Given the description of an element on the screen output the (x, y) to click on. 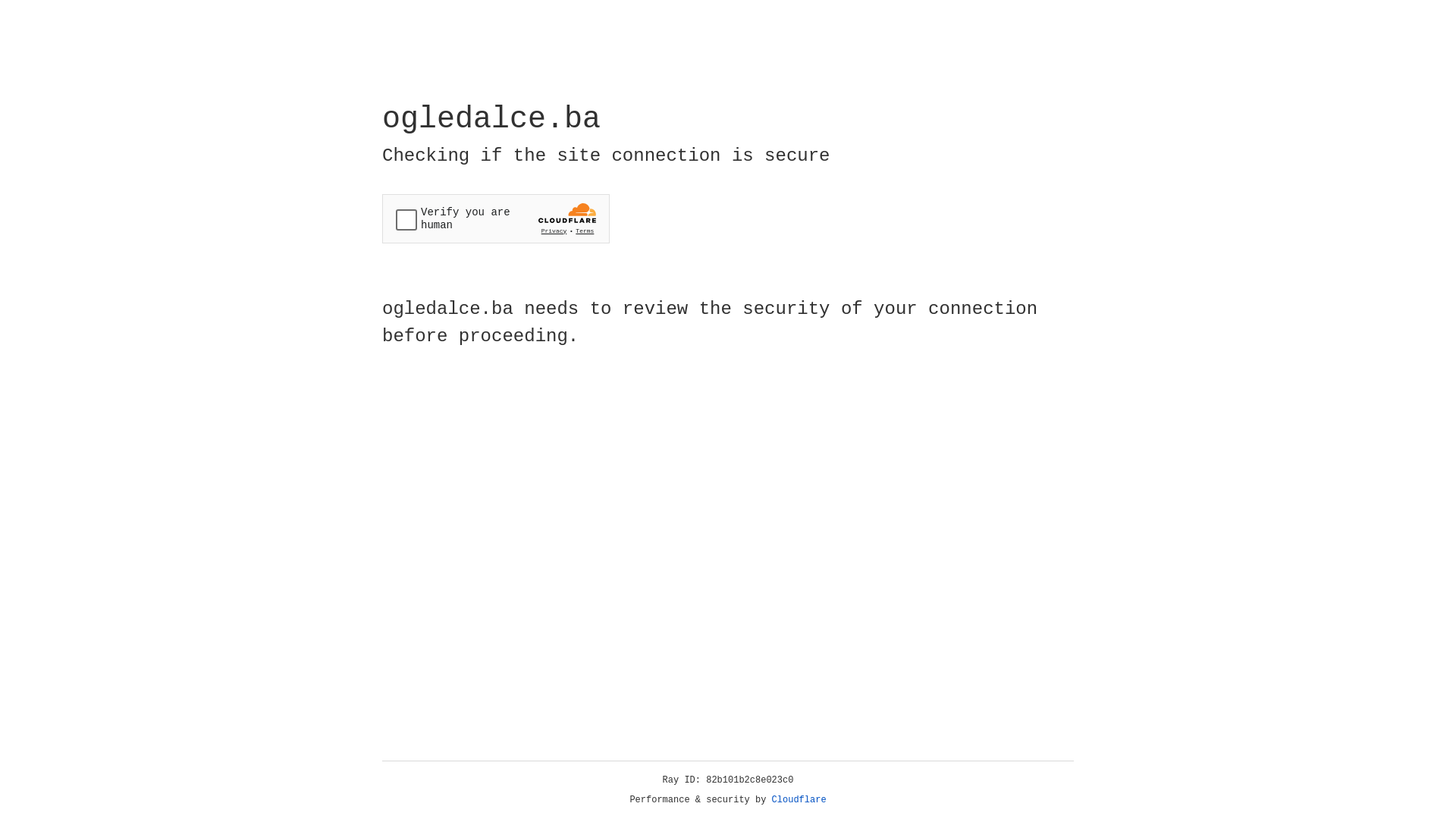
Widget containing a Cloudflare security challenge Element type: hover (495, 218)
Cloudflare Element type: text (798, 799)
